Given the description of an element on the screen output the (x, y) to click on. 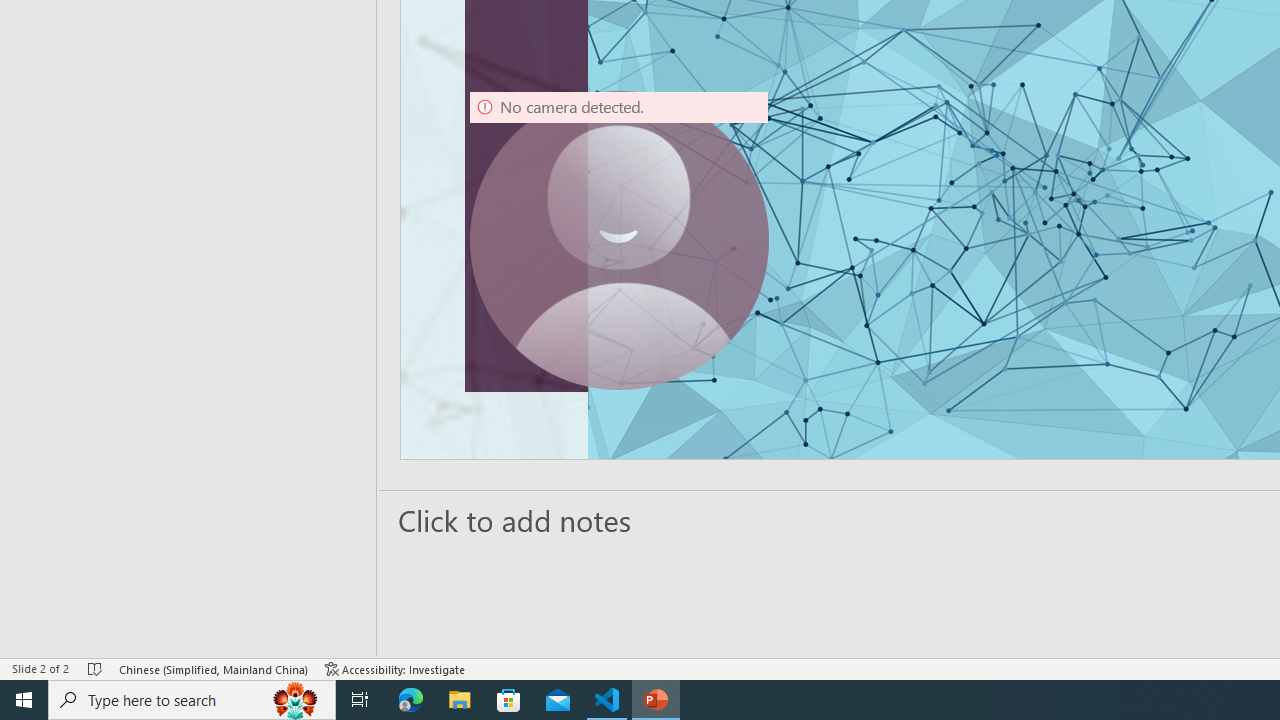
Camera 9, No camera detected. (619, 240)
